Given the description of an element on the screen output the (x, y) to click on. 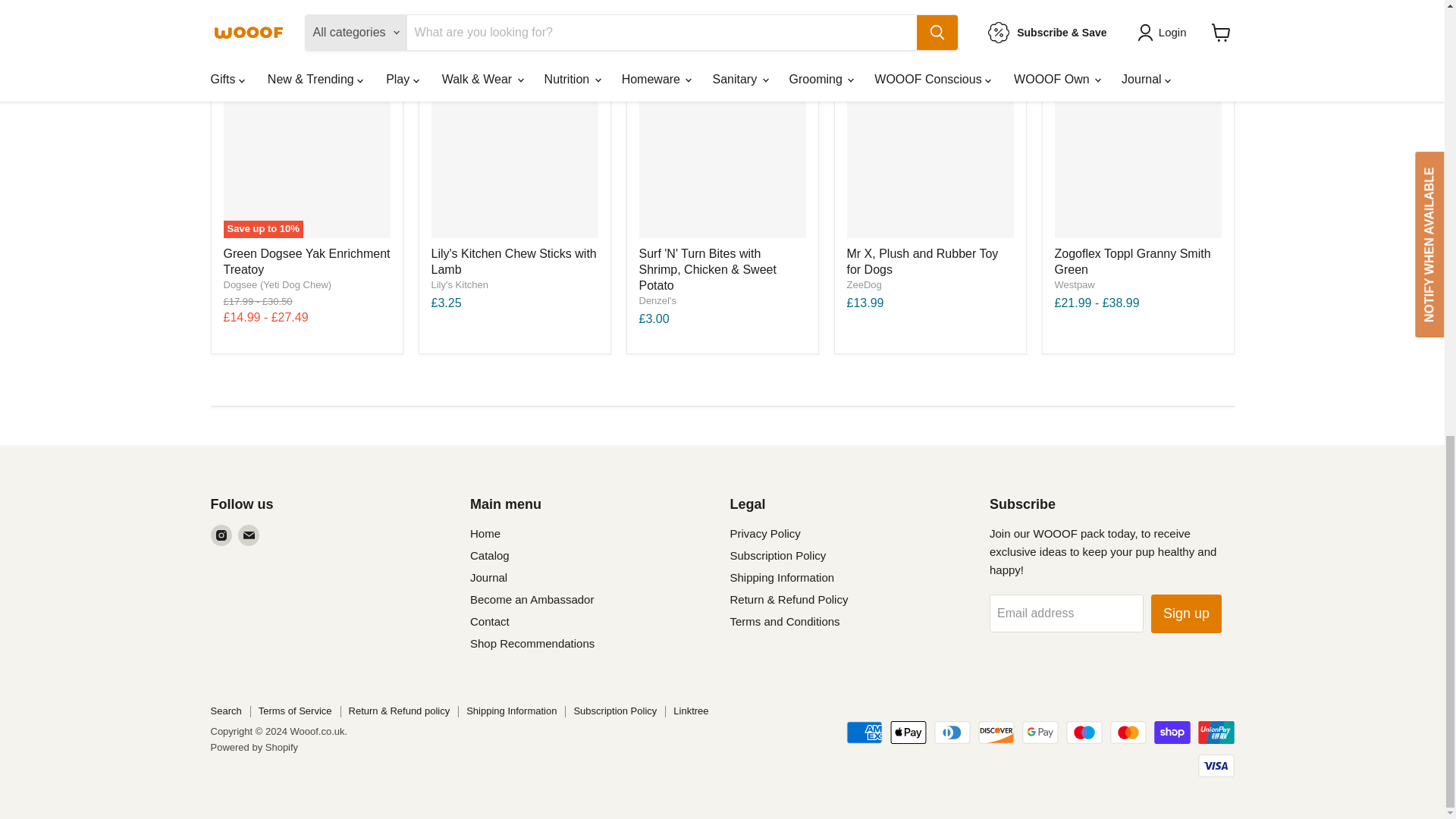
Denzel's (657, 300)
ZeeDog (862, 284)
Westpaw (1074, 284)
Lily's Kitchen (458, 284)
Email (248, 535)
Instagram (221, 535)
